Given the description of an element on the screen output the (x, y) to click on. 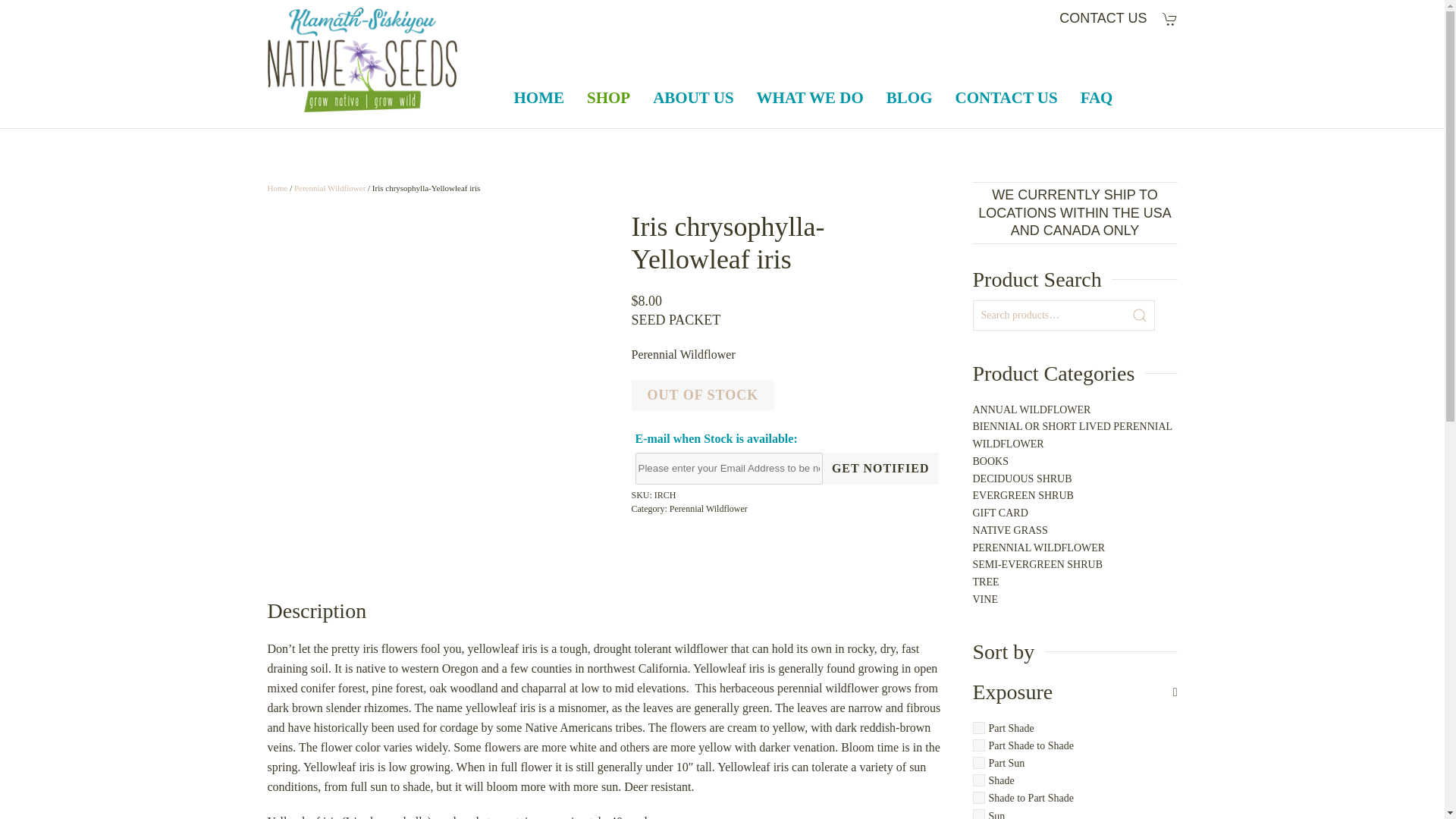
part-shade (978, 727)
shade-to-part-shade (978, 797)
WHAT WE DO (810, 97)
Get Notified (880, 468)
part-sun (978, 762)
CONTACT US (1103, 17)
shade (978, 779)
sun (978, 814)
ABOUT US (692, 97)
part-shade-to-shade (978, 745)
